Given the description of an element on the screen output the (x, y) to click on. 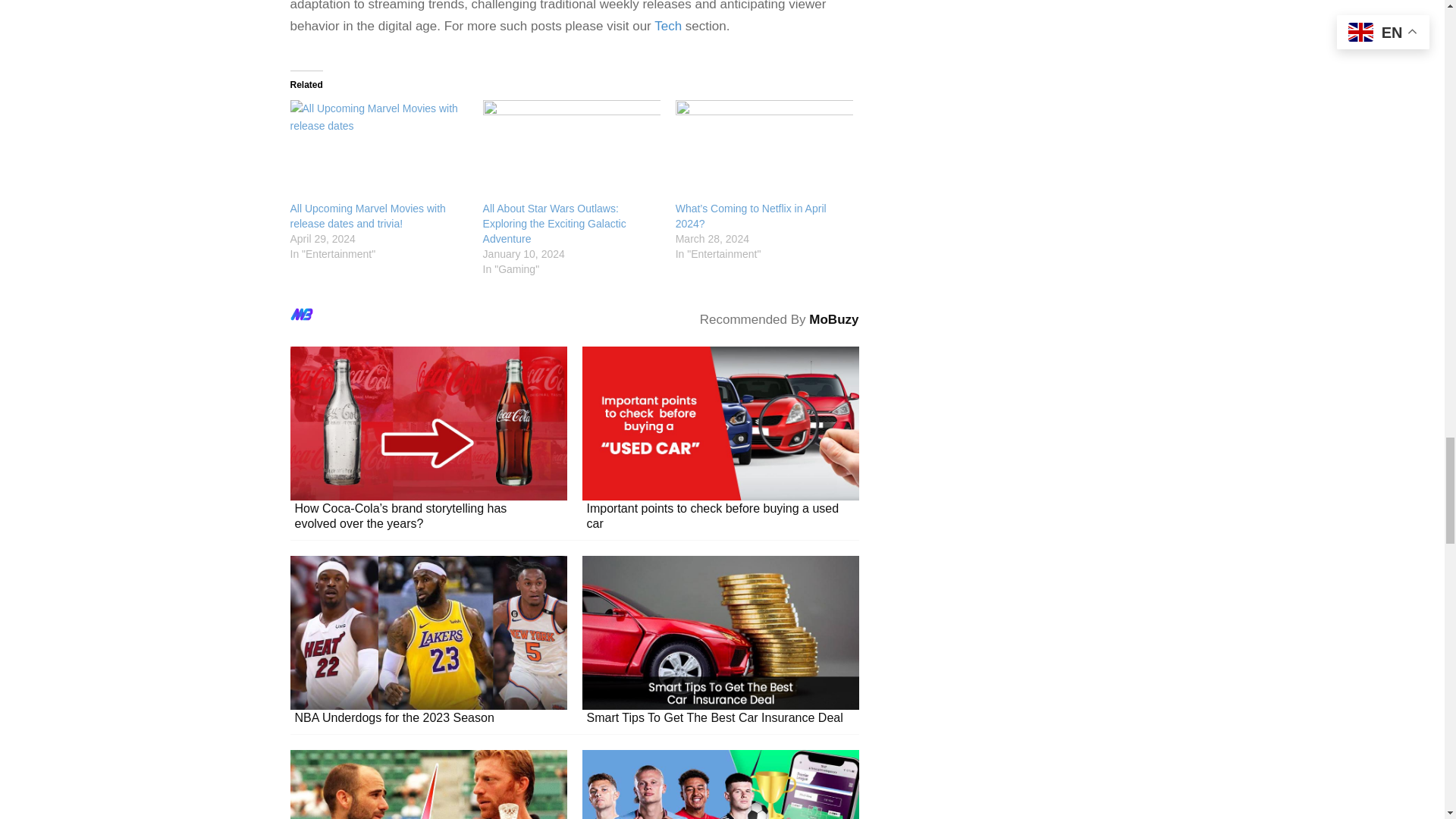
MoBuzy (834, 319)
Tech (667, 25)
All Upcoming Marvel Movies with release dates and trivia! (367, 216)
